Given the description of an element on the screen output the (x, y) to click on. 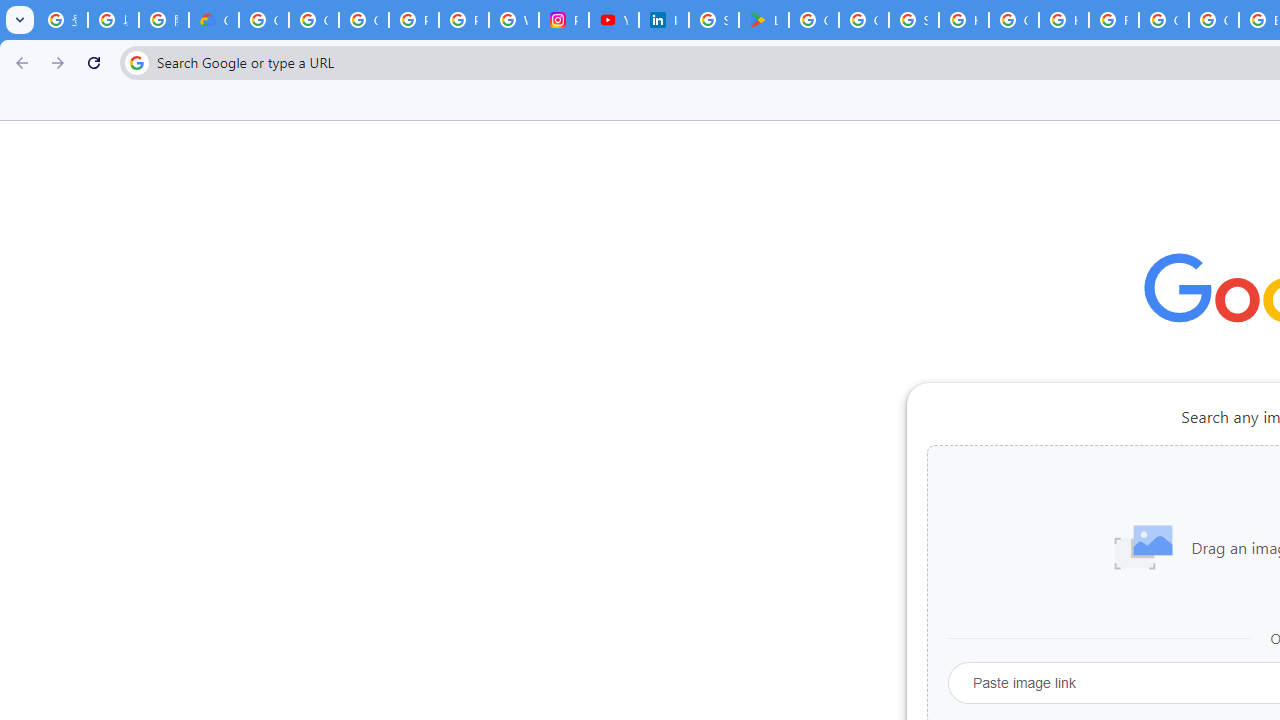
Privacy Help Center - Policies Help (463, 20)
Last Shelter: Survival - Apps on Google Play (763, 20)
Privacy Help Center - Policies Help (414, 20)
Google Workspace - Specific Terms (863, 20)
How do I create a new Google Account? - Google Account Help (1064, 20)
Sign in - Google Accounts (914, 20)
Sign in - Google Accounts (713, 20)
